Given the description of an element on the screen output the (x, y) to click on. 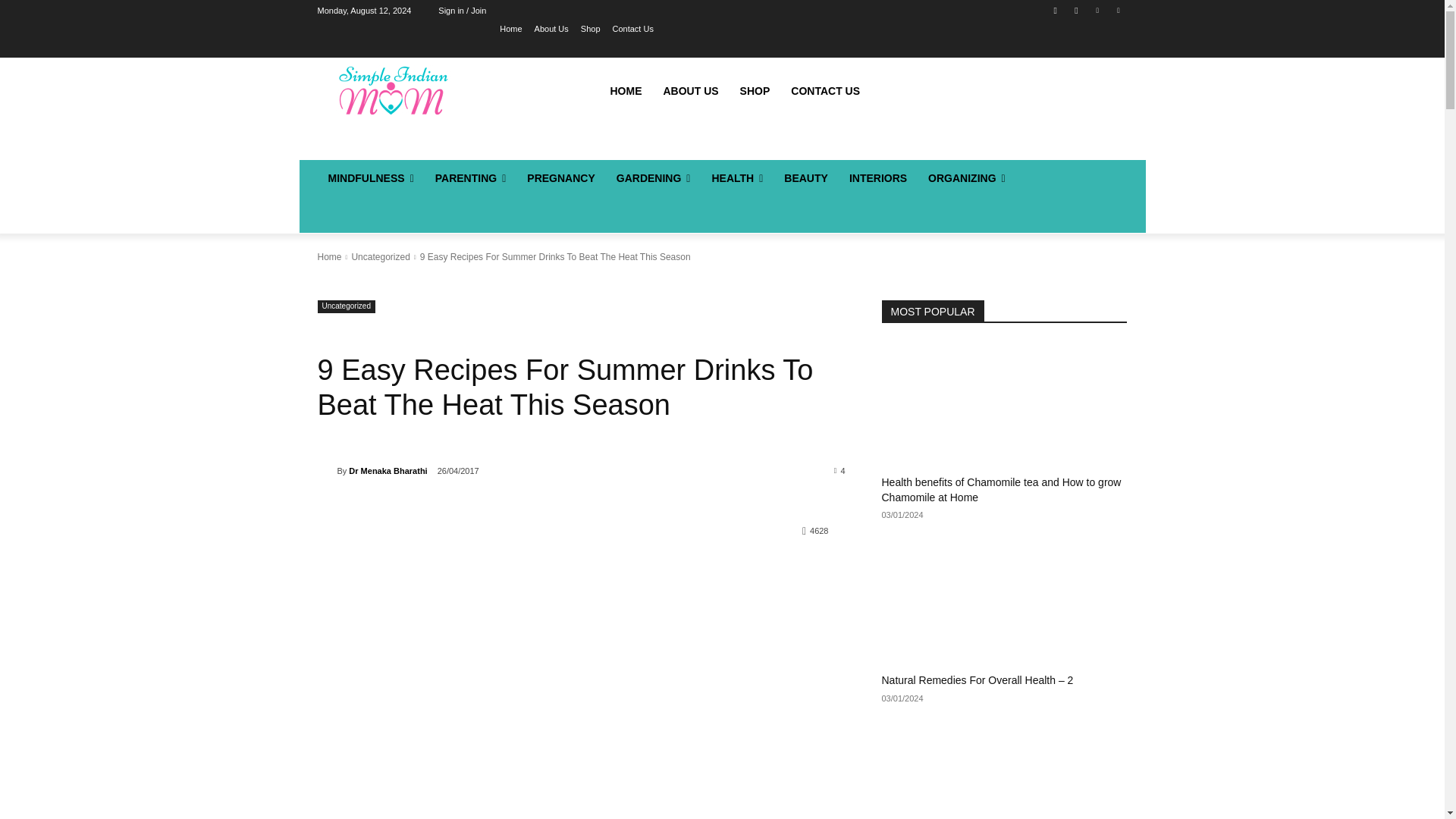
Instagram (1075, 9)
ABOUT US (690, 90)
Shop (589, 28)
Facebook (1055, 9)
Pinterest (1097, 9)
CONTACT US (825, 90)
Twitter (1117, 9)
Contact Us (632, 28)
Dr Menaka Bharathi (326, 470)
HOME (625, 90)
